Given the description of an element on the screen output the (x, y) to click on. 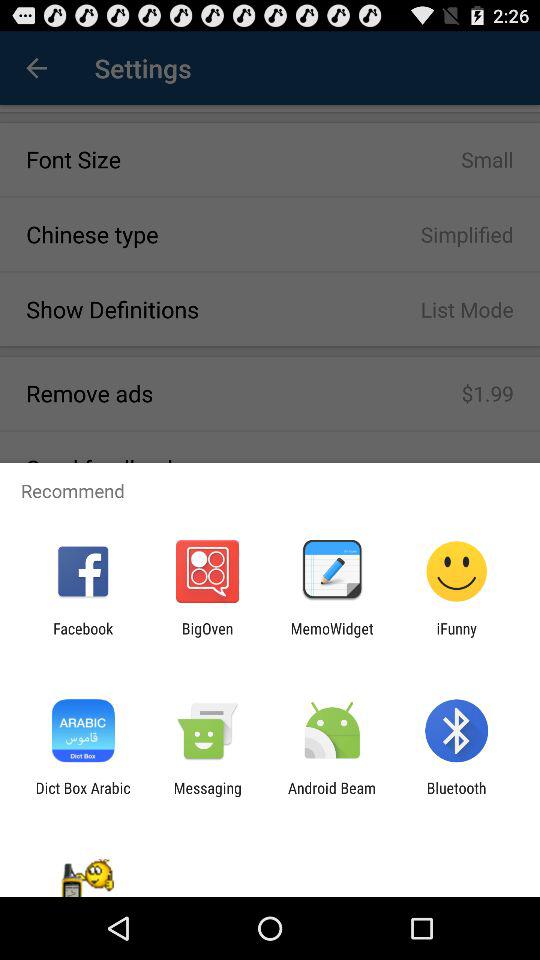
click the app to the left of memowidget icon (207, 637)
